Given the description of an element on the screen output the (x, y) to click on. 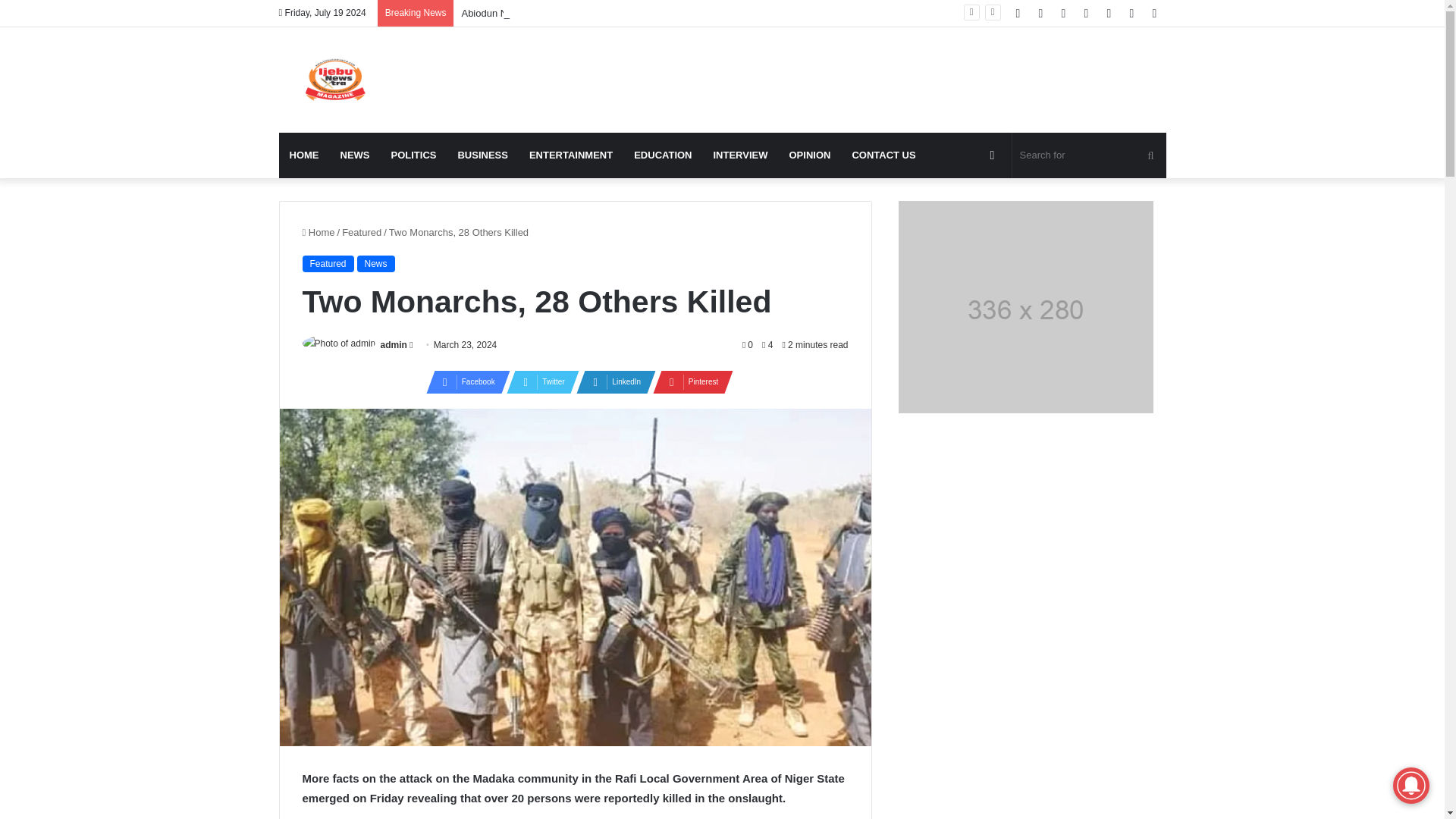
Abiodun Names Kemta-Idi Aba-Somorin Road After Wole Soyinka (604, 12)
Featured (361, 232)
BUSINESS (482, 155)
Log In (1109, 13)
NEWS (354, 155)
News (375, 263)
LinkedIn (611, 382)
EDUCATION (662, 155)
Featured (327, 263)
INTERVIEW (739, 155)
Facebook (1018, 13)
Random Article (1131, 13)
admin (393, 344)
